Given the description of an element on the screen output the (x, y) to click on. 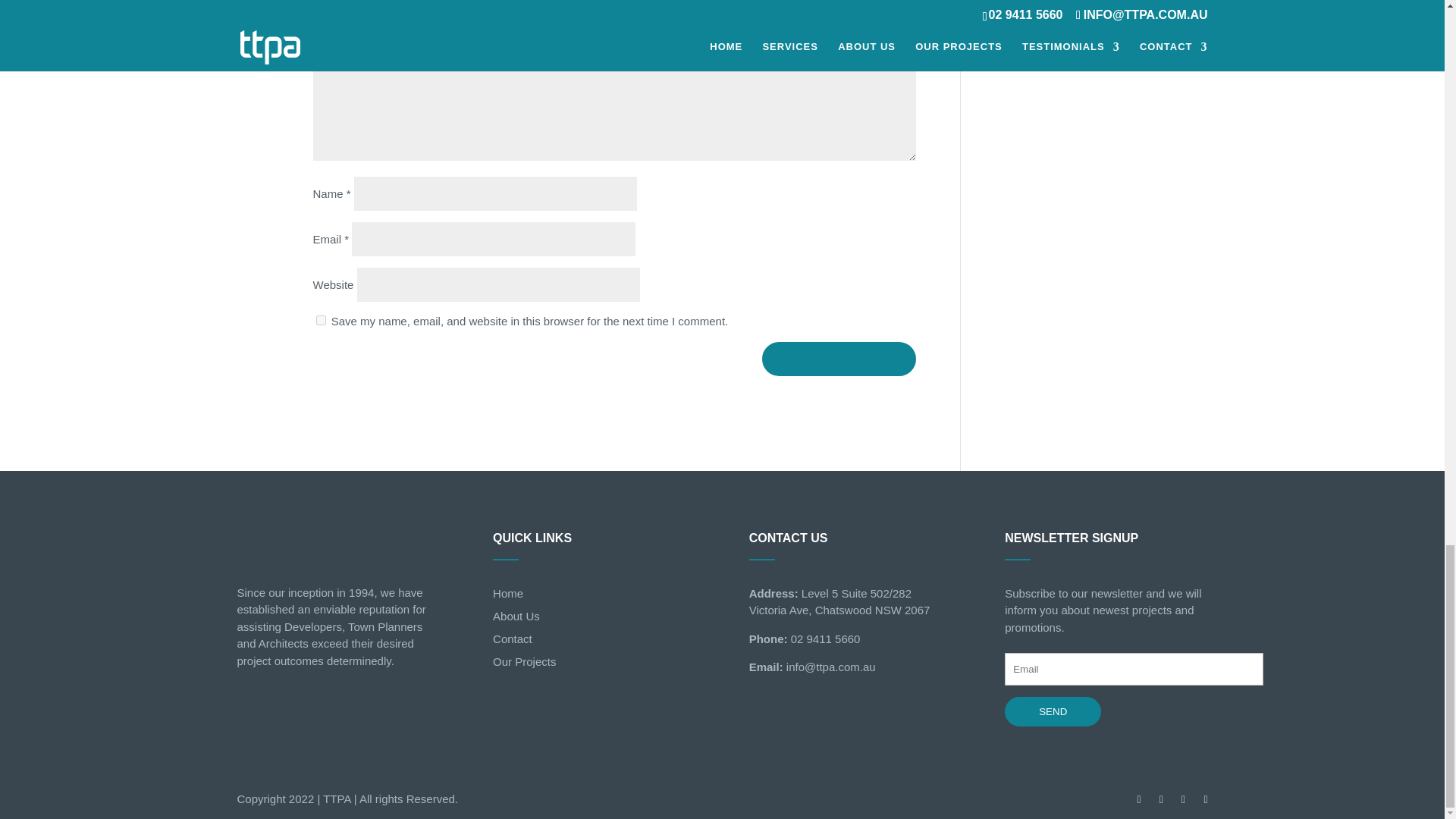
Submit Comment (838, 358)
About Us (516, 615)
Our Projects (524, 661)
Home (507, 593)
02 9411 5660 (823, 638)
Submit Comment (838, 358)
Contact (512, 638)
SEND (1052, 711)
yes (319, 320)
SEND (1052, 711)
